Given the description of an element on the screen output the (x, y) to click on. 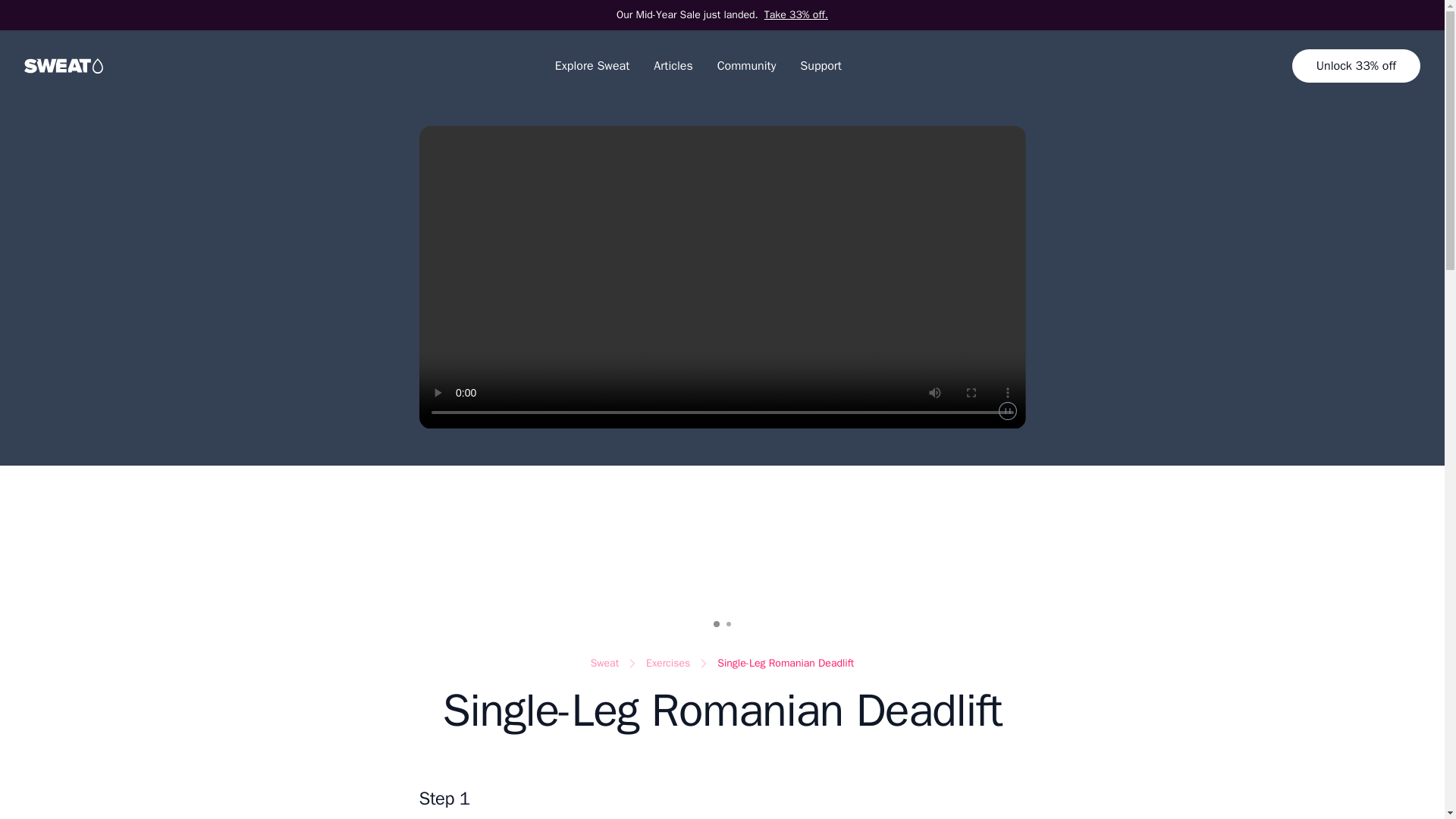
Single-Leg Romanian Deadlift (785, 663)
Articles (673, 65)
Exercises (668, 663)
Community (746, 65)
Explore Sweat (591, 65)
Support (820, 65)
Sweat (604, 663)
